Given the description of an element on the screen output the (x, y) to click on. 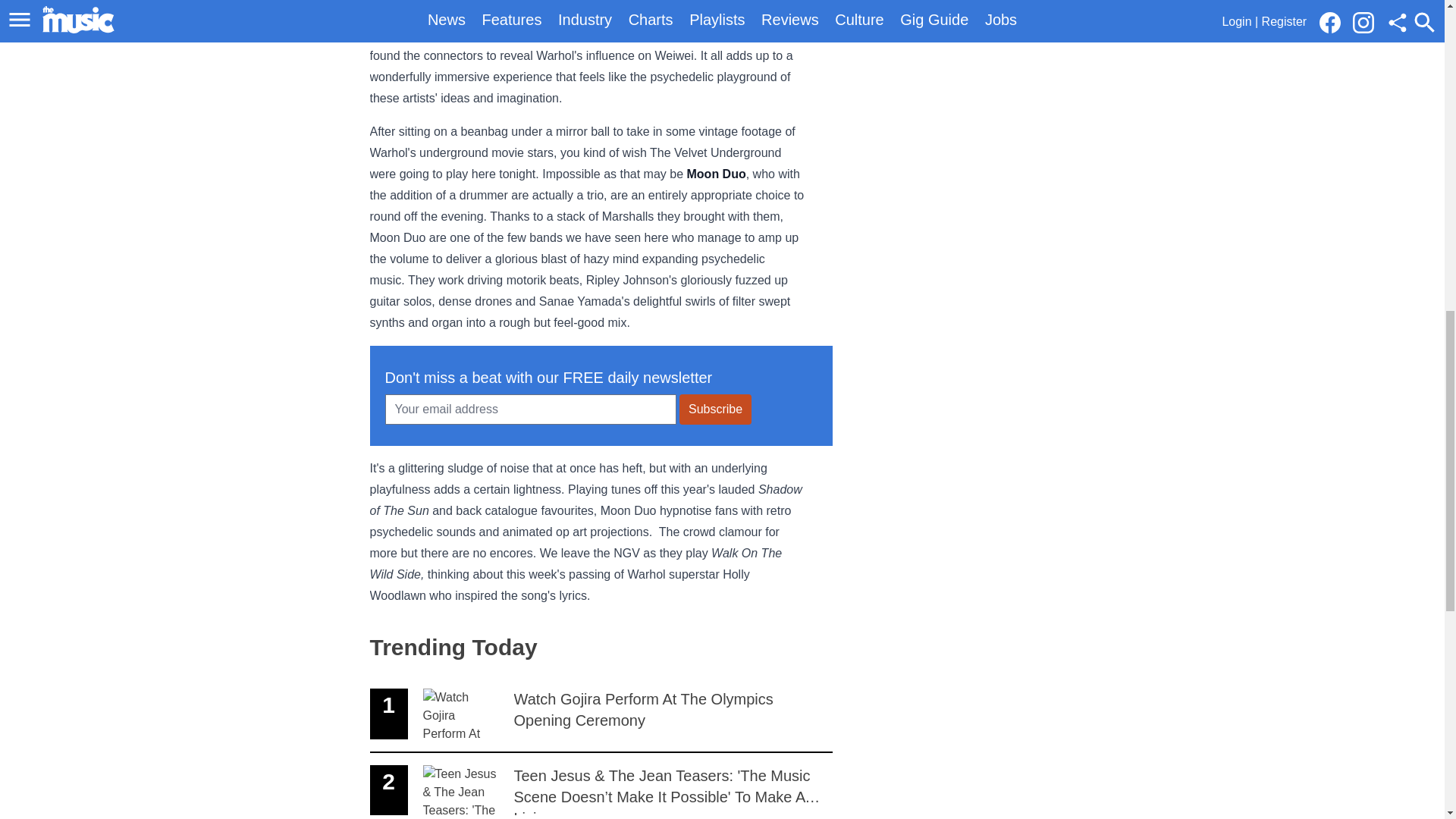
Subscribe (600, 714)
